Given the description of an element on the screen output the (x, y) to click on. 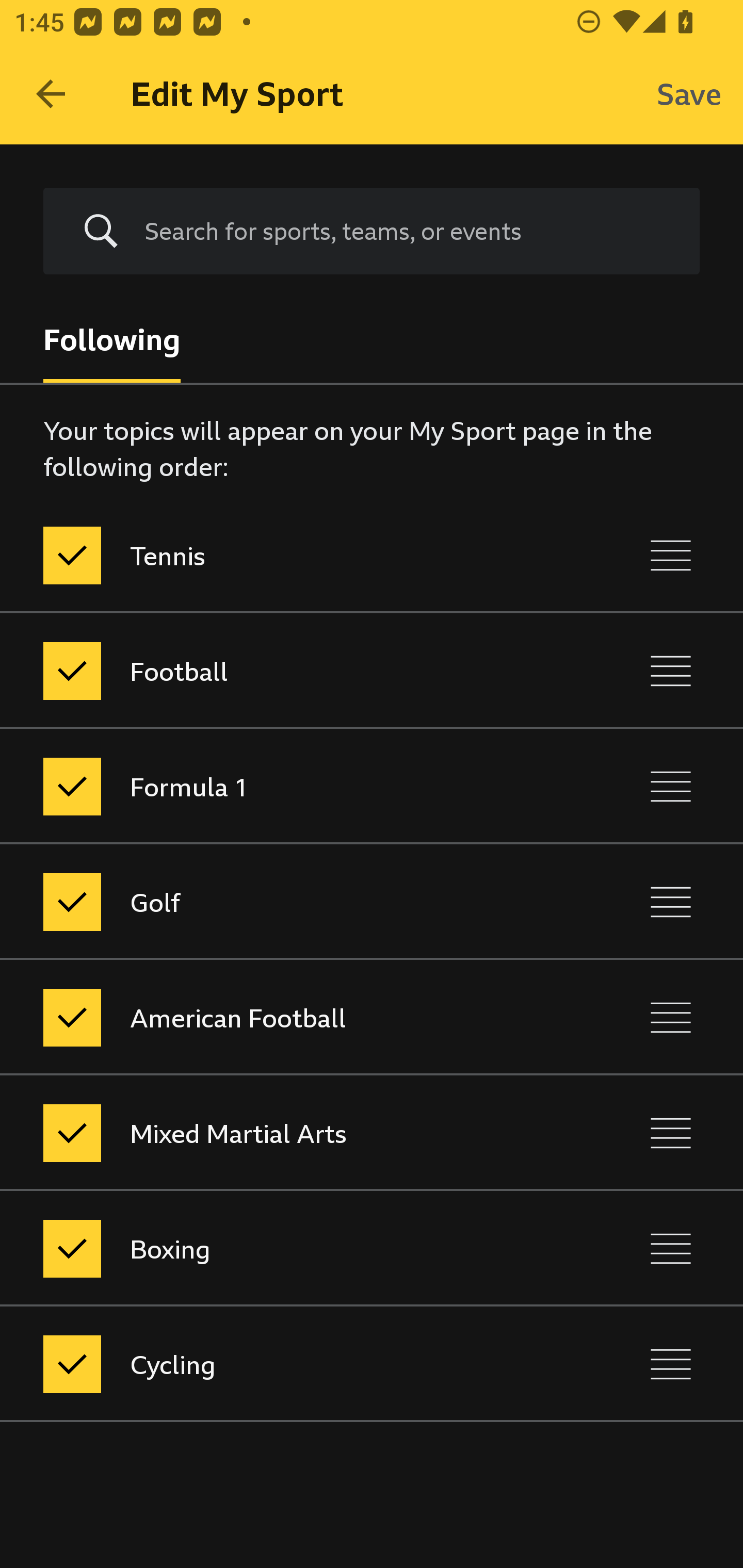
Navigate up (50, 93)
Save (689, 93)
Search for sports, teams, or events (371, 231)
Search for sports, teams, or events (407, 231)
Tennis (284, 555)
Reorder Tennis (670, 555)
Football (284, 671)
Reorder Football (670, 671)
Formula 1 (284, 786)
Reorder Formula 1 (670, 786)
Golf (284, 901)
Reorder Golf (670, 901)
American Football (284, 1017)
Reorder American Football (670, 1017)
Mixed Martial Arts (284, 1133)
Reorder Mixed Martial Arts (670, 1133)
Boxing (284, 1248)
Reorder Boxing (670, 1248)
Cycling (284, 1364)
Reorder Cycling (670, 1364)
